Given the description of an element on the screen output the (x, y) to click on. 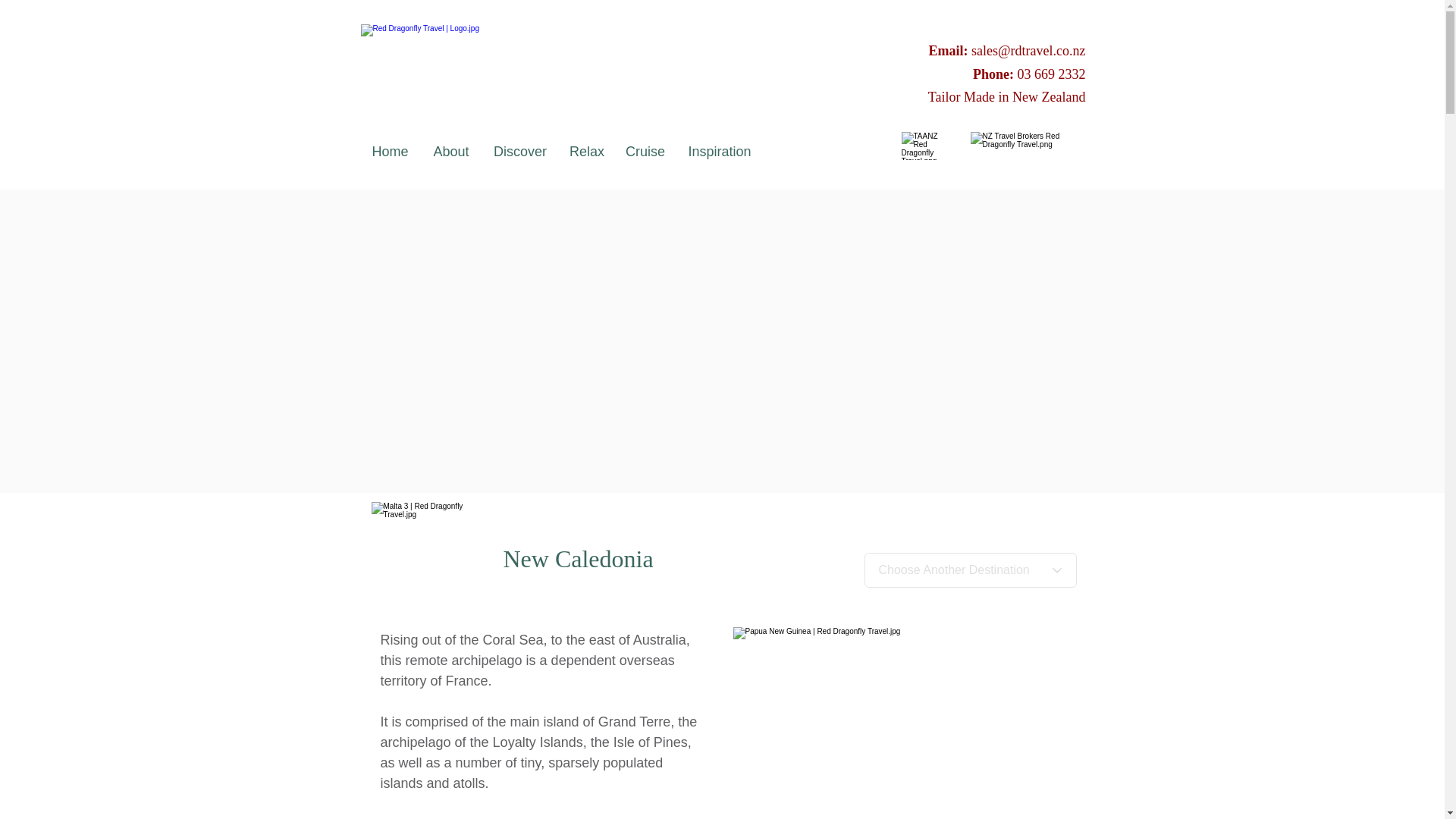
About (450, 151)
Discover (519, 151)
Home (389, 151)
Inspiration (719, 151)
Cruise (644, 151)
Relax (584, 151)
